Given the description of an element on the screen output the (x, y) to click on. 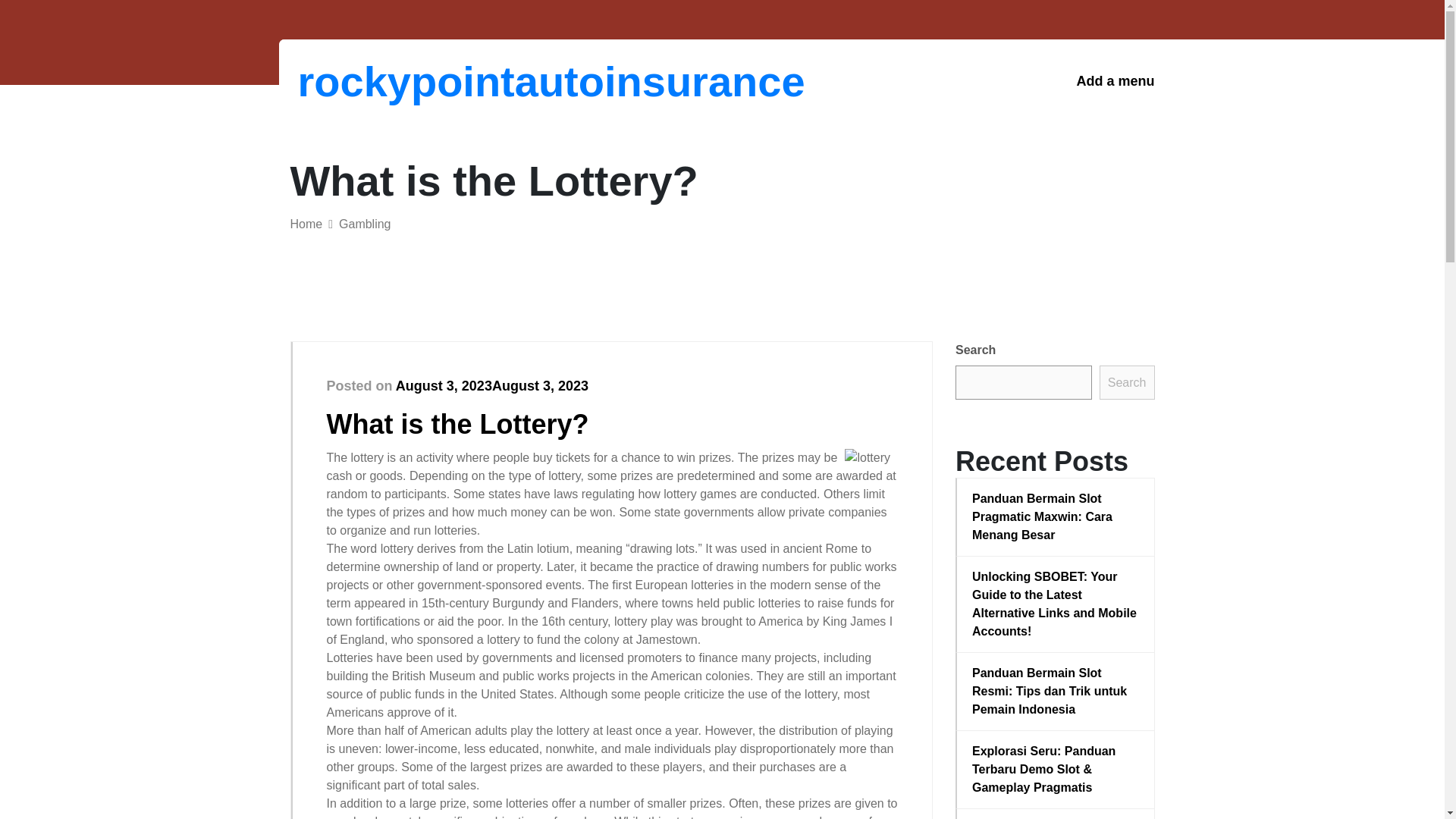
August 3, 2023August 3, 2023 (492, 385)
Panduan Bermain Slot Pragmatic Maxwin: Cara Menang Besar (1055, 516)
Search (1126, 382)
Add a menu (1114, 81)
What is the Lottery? (457, 423)
Gambling (364, 223)
Home (305, 223)
rockypointautoinsurance (376, 81)
